Given the description of an element on the screen output the (x, y) to click on. 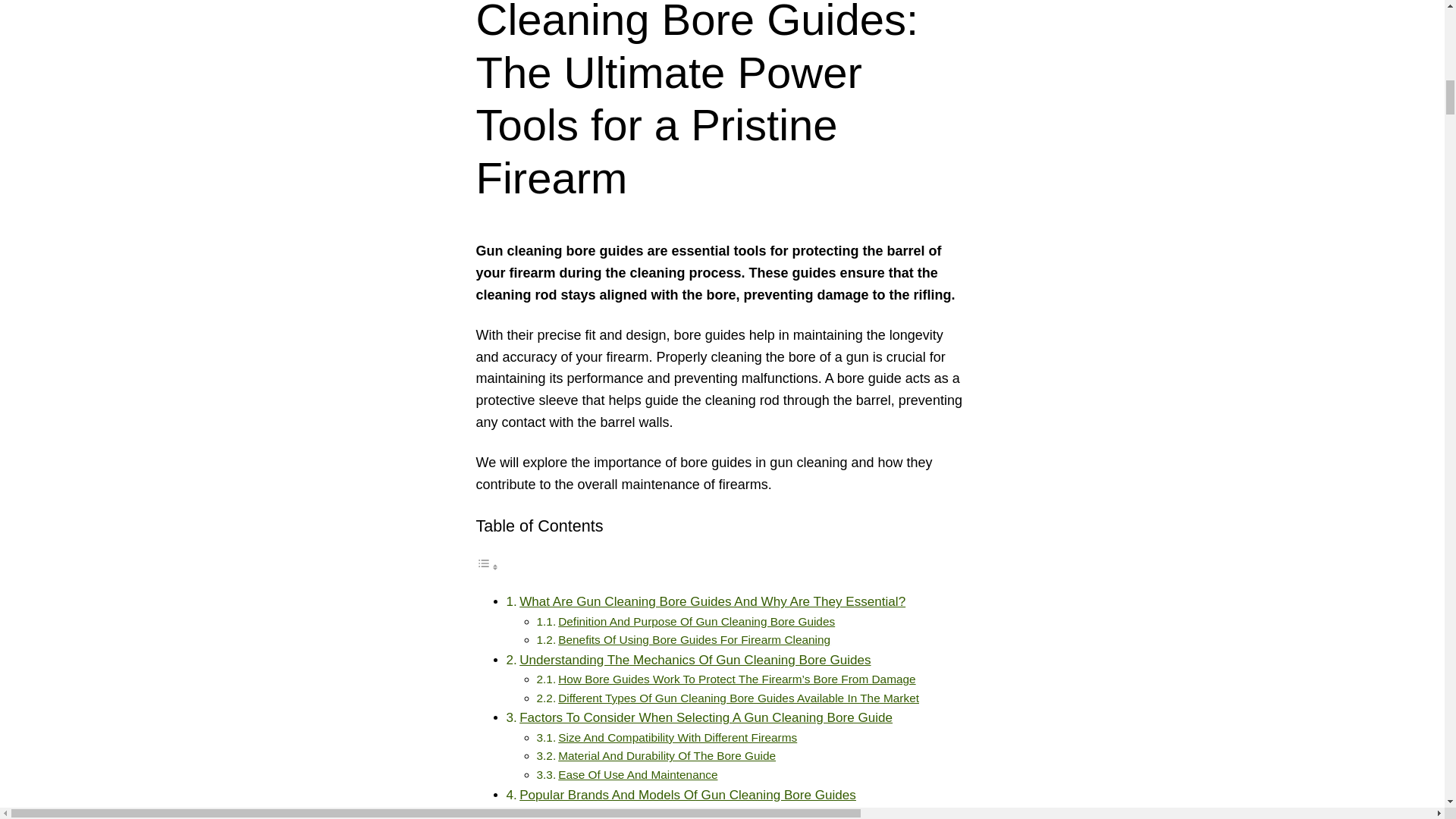
Factors To Consider When Selecting A Gun Cleaning Bore Guide (705, 717)
Material And Durability Of The Bore Guide (666, 755)
Definition And Purpose Of Gun Cleaning Bore Guides (695, 621)
Size And Compatibility With Different Firearms (676, 737)
Ease Of Use And Maintenance (637, 774)
Benefits Of Using Bore Guides For Firearm Cleaning (693, 639)
Popular Brands And Models Of Gun Cleaning Bore Guides (687, 794)
Benefits Of Using Bore Guides For Firearm Cleaning (693, 639)
Material And Durability Of The Bore Guide (666, 755)
1. Xyz Bore Guide (604, 813)
Understanding The Mechanics Of Gun Cleaning Bore Guides (694, 659)
Factors To Consider When Selecting A Gun Cleaning Bore Guide (705, 717)
